Given the description of an element on the screen output the (x, y) to click on. 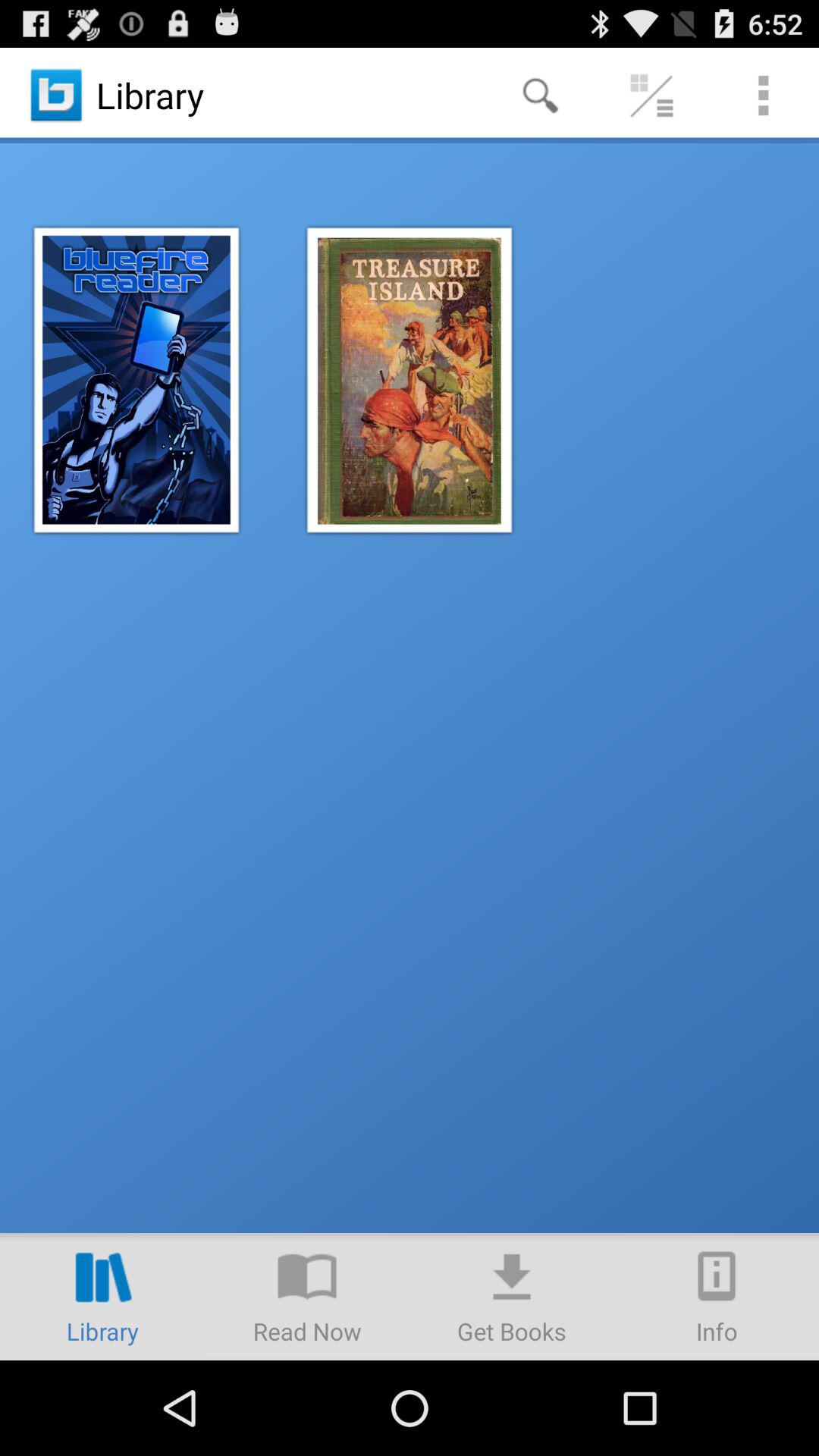
more info button (716, 1296)
